Given the description of an element on the screen output the (x, y) to click on. 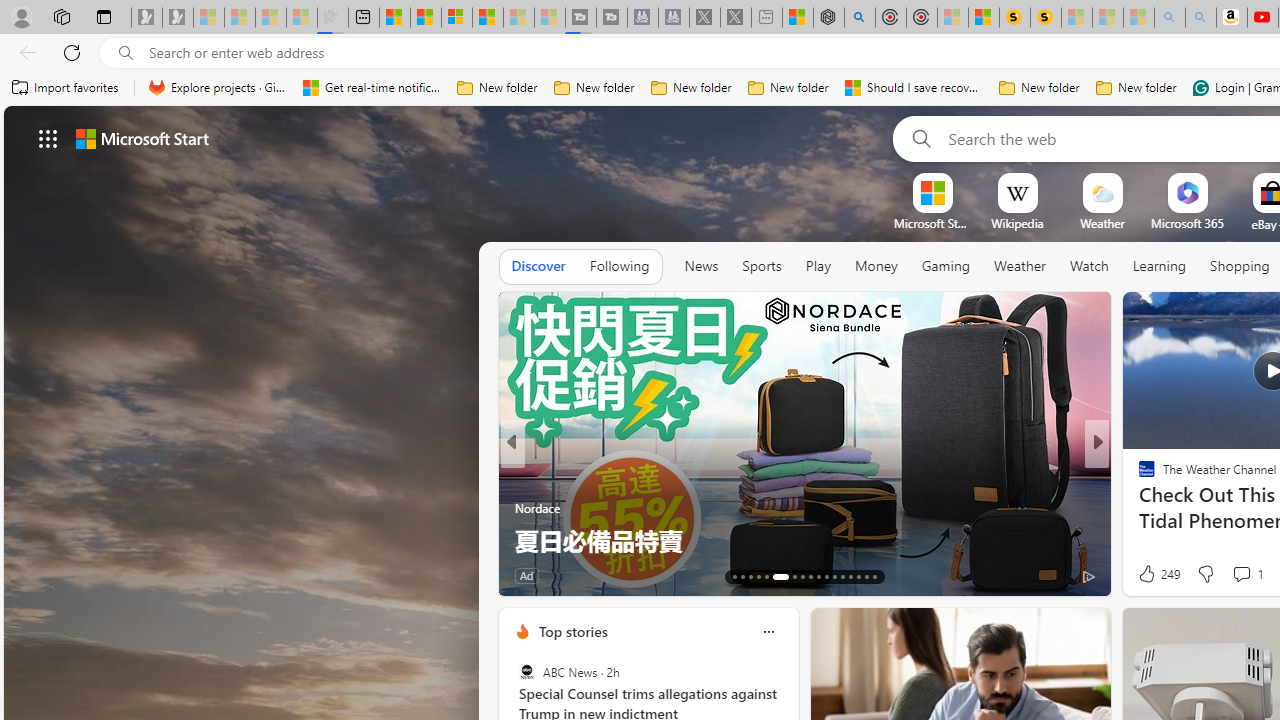
Refresh (72, 52)
Sports (761, 267)
Money (875, 265)
Should I save recovered Word documents? - Microsoft Support (913, 88)
News (701, 265)
30 Like (1149, 574)
New tab - Sleeping (766, 17)
Import favorites (65, 88)
Class: control (47, 138)
See more (478, 315)
32 Like (1149, 574)
View comments 1 Comment (1241, 573)
Microsoft 365 (1186, 223)
View comments 2 Comment (1228, 574)
AutomationID: tab-24 (833, 576)
